Given the description of an element on the screen output the (x, y) to click on. 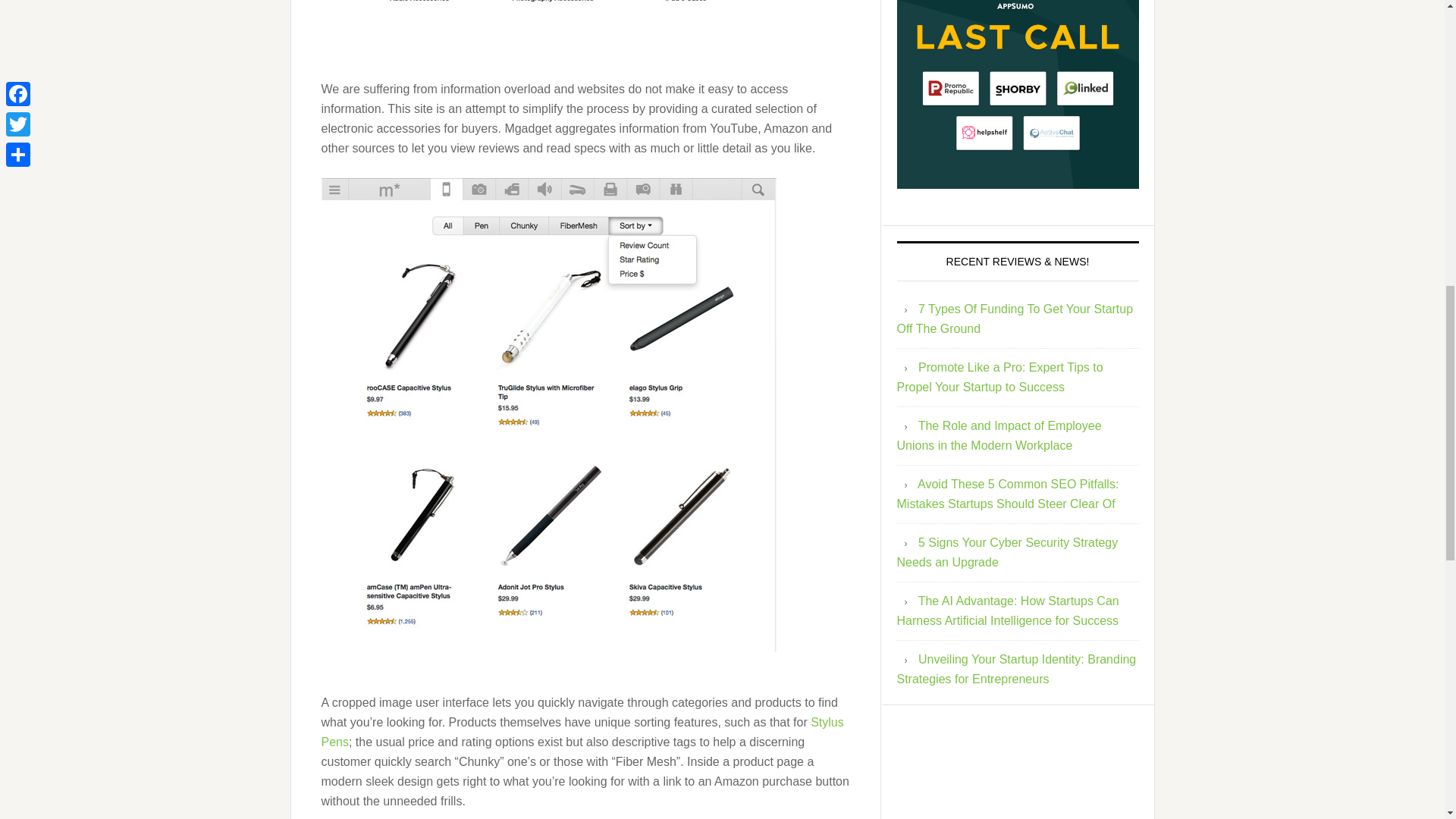
7 Types Of Funding To Get Your Startup Off The Ground (1014, 318)
5 Signs Your Cyber Security Strategy Needs an Upgrade (1007, 552)
Stylus Pens (582, 731)
